Given the description of an element on the screen output the (x, y) to click on. 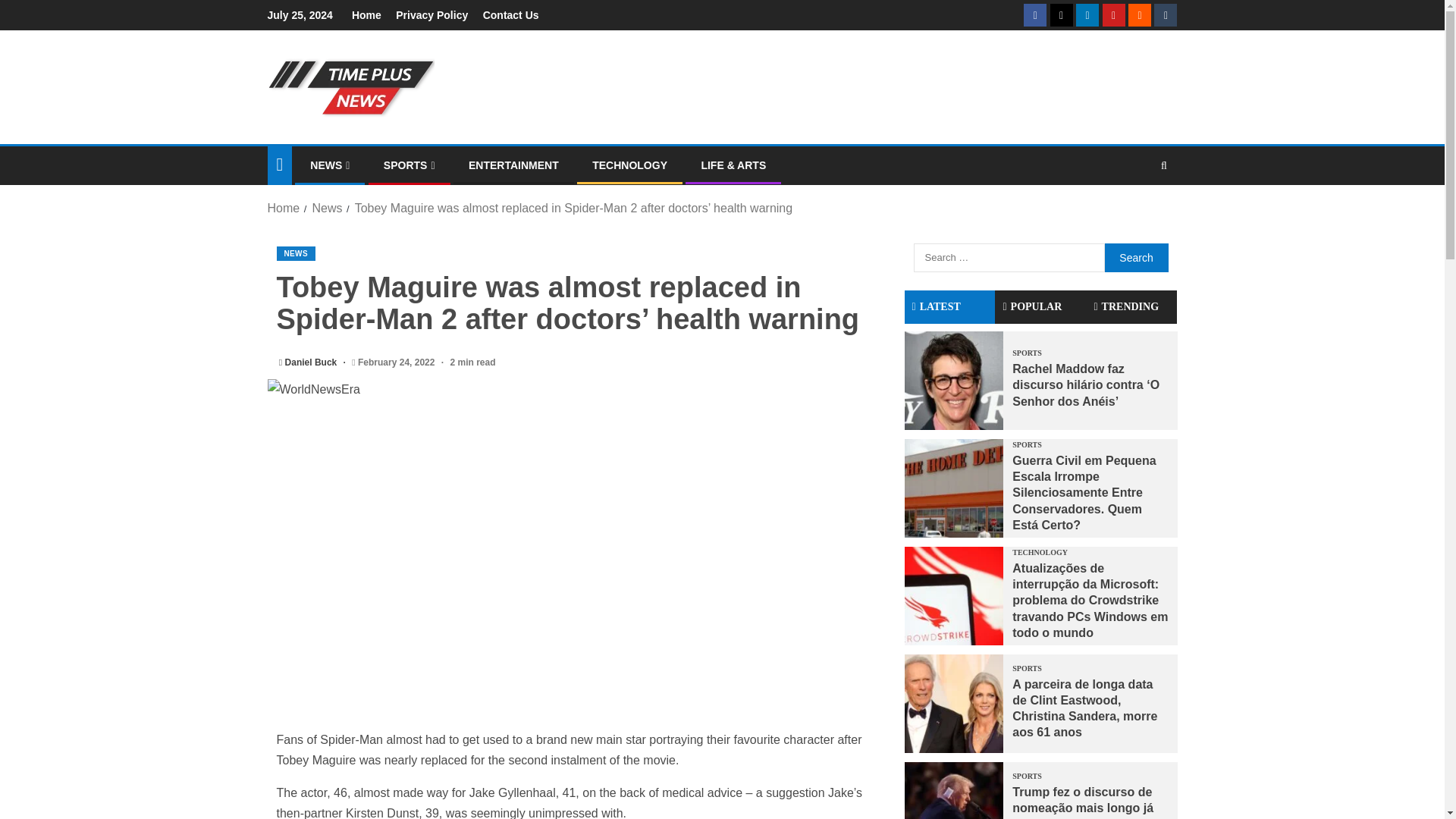
News (326, 207)
Contact Us (510, 15)
Home (282, 207)
Daniel Buck (312, 362)
Search (1135, 256)
Search (1135, 256)
Home (366, 15)
NEWS (329, 164)
Search (1133, 212)
NEWS (295, 253)
Privacy Policy (431, 15)
TECHNOLOGY (629, 164)
SPORTS (409, 164)
ENTERTAINMENT (513, 164)
